Given the description of an element on the screen output the (x, y) to click on. 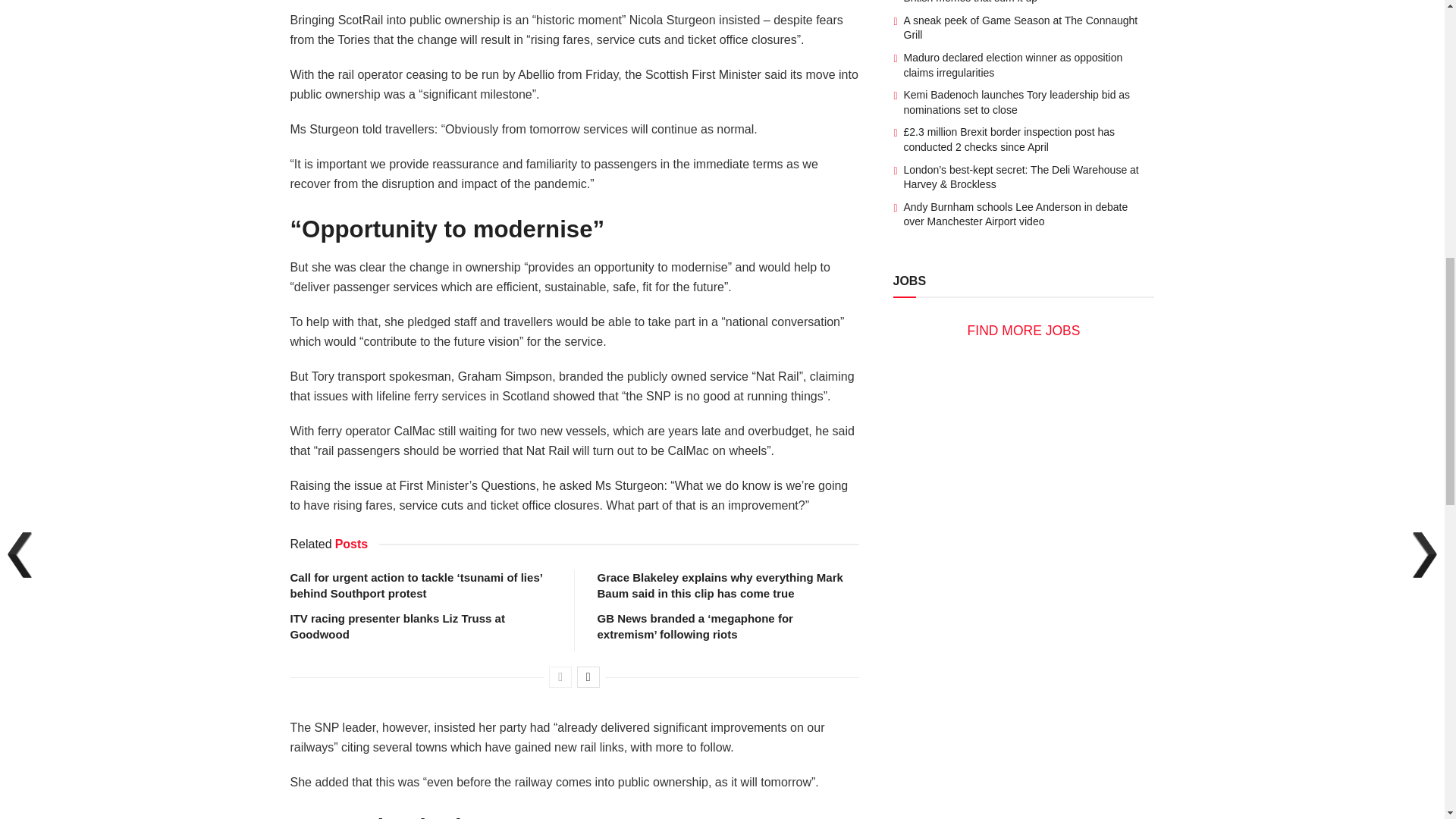
Previous (560, 676)
Next (587, 676)
